Given the description of an element on the screen output the (x, y) to click on. 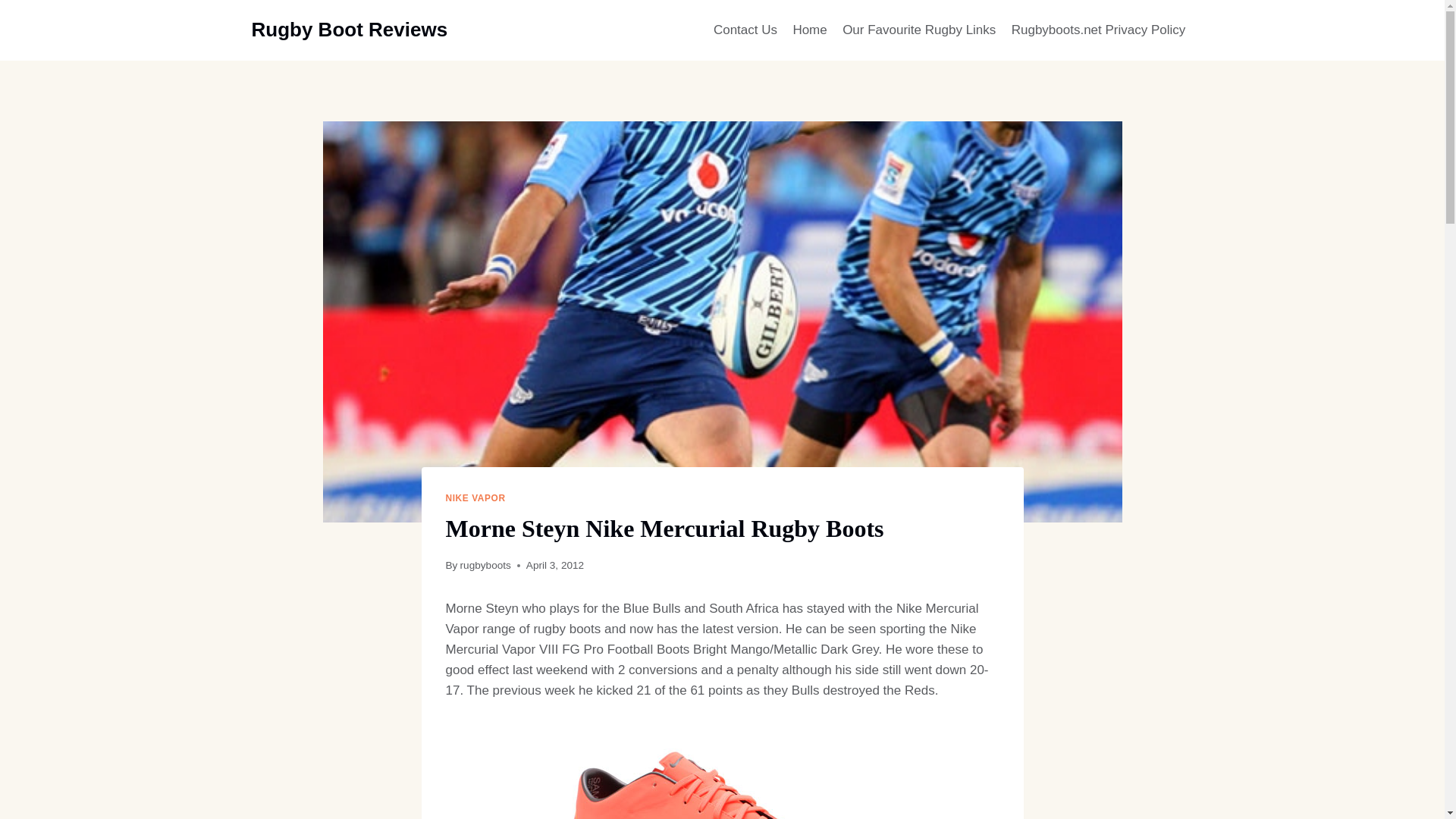
Contact Us (745, 30)
Rugby Boot Reviews (349, 29)
Our Favourite Rugby Links (919, 30)
rugbyboots (485, 564)
Home (809, 30)
Rugbyboots.net Privacy Policy (1098, 30)
NIKE VAPOR (475, 498)
